Given the description of an element on the screen output the (x, y) to click on. 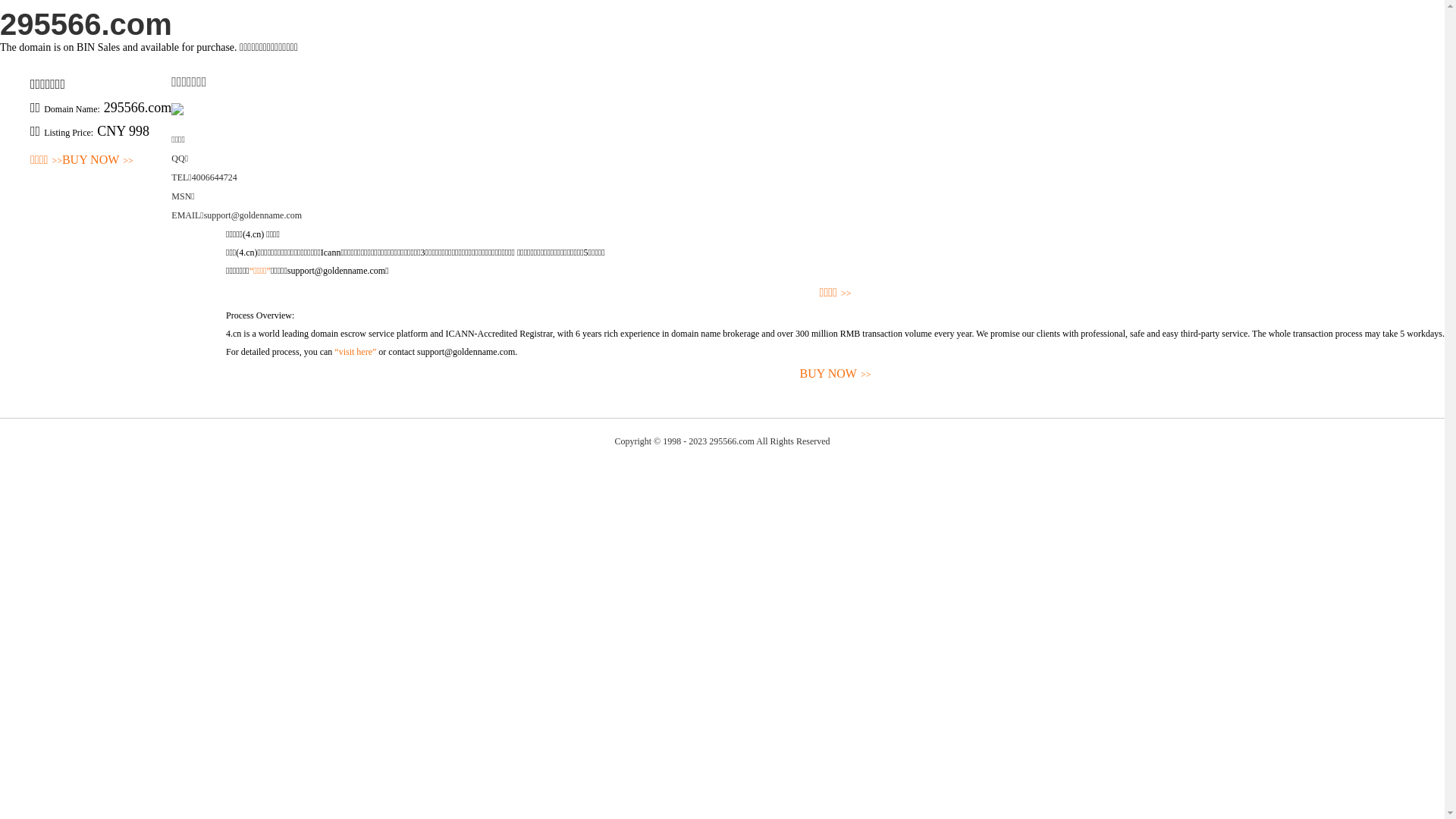
BUY NOW>> Element type: text (97, 160)
BUY NOW>> Element type: text (834, 373)
